Given the description of an element on the screen output the (x, y) to click on. 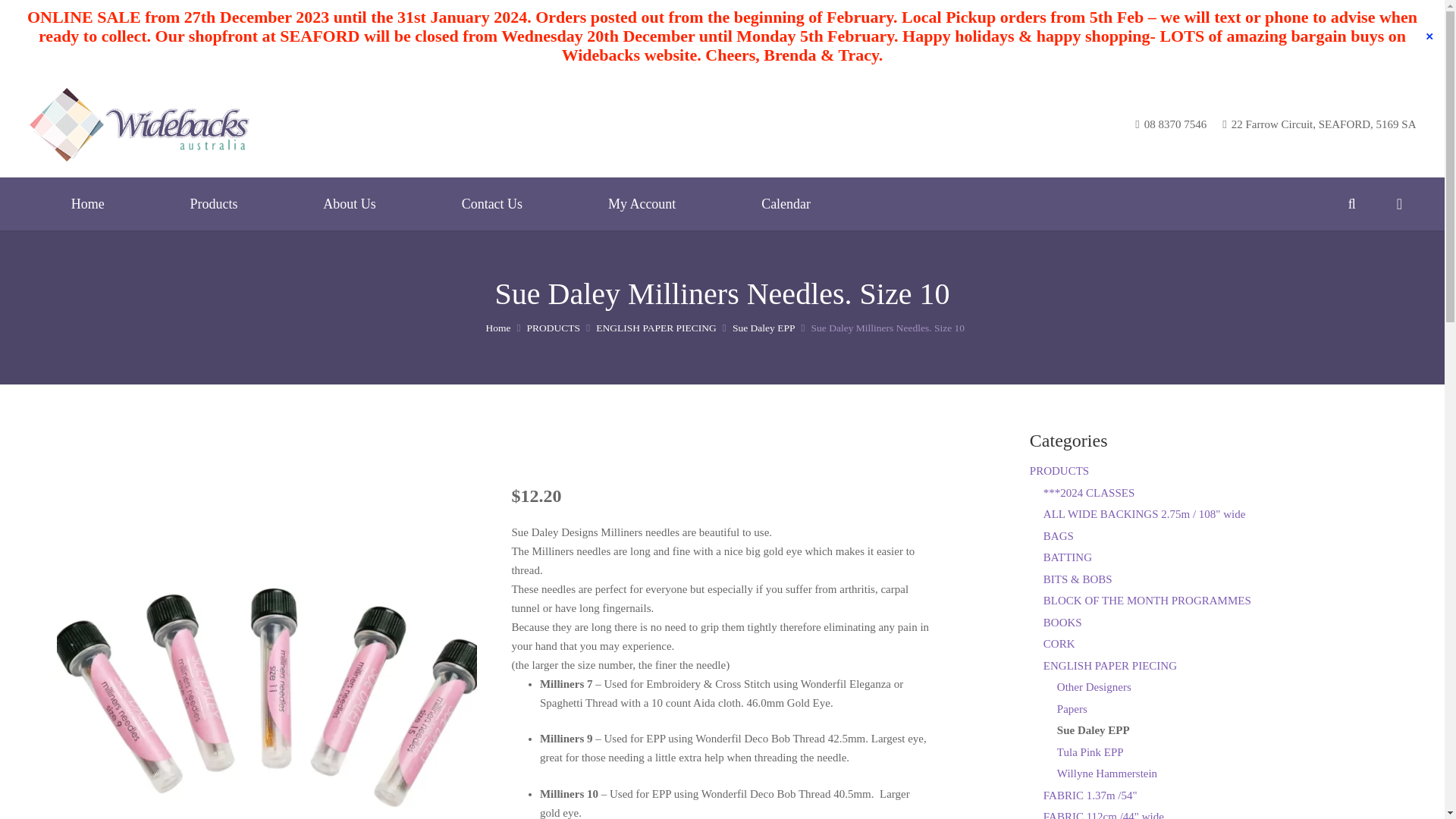
About Us (350, 203)
Contact Us (491, 203)
BOOKS (1062, 622)
Calendar (786, 203)
My Account (642, 203)
Sue Daley EPP (763, 327)
Home (87, 203)
BAGS (1058, 535)
BATTING (1067, 557)
PRODUCTS (1059, 470)
Home (497, 327)
ENGLISH PAPER PIECING (655, 327)
Products (214, 203)
PRODUCTS (553, 327)
BLOCK OF THE MONTH PROGRAMMES (1146, 600)
